Given the description of an element on the screen output the (x, y) to click on. 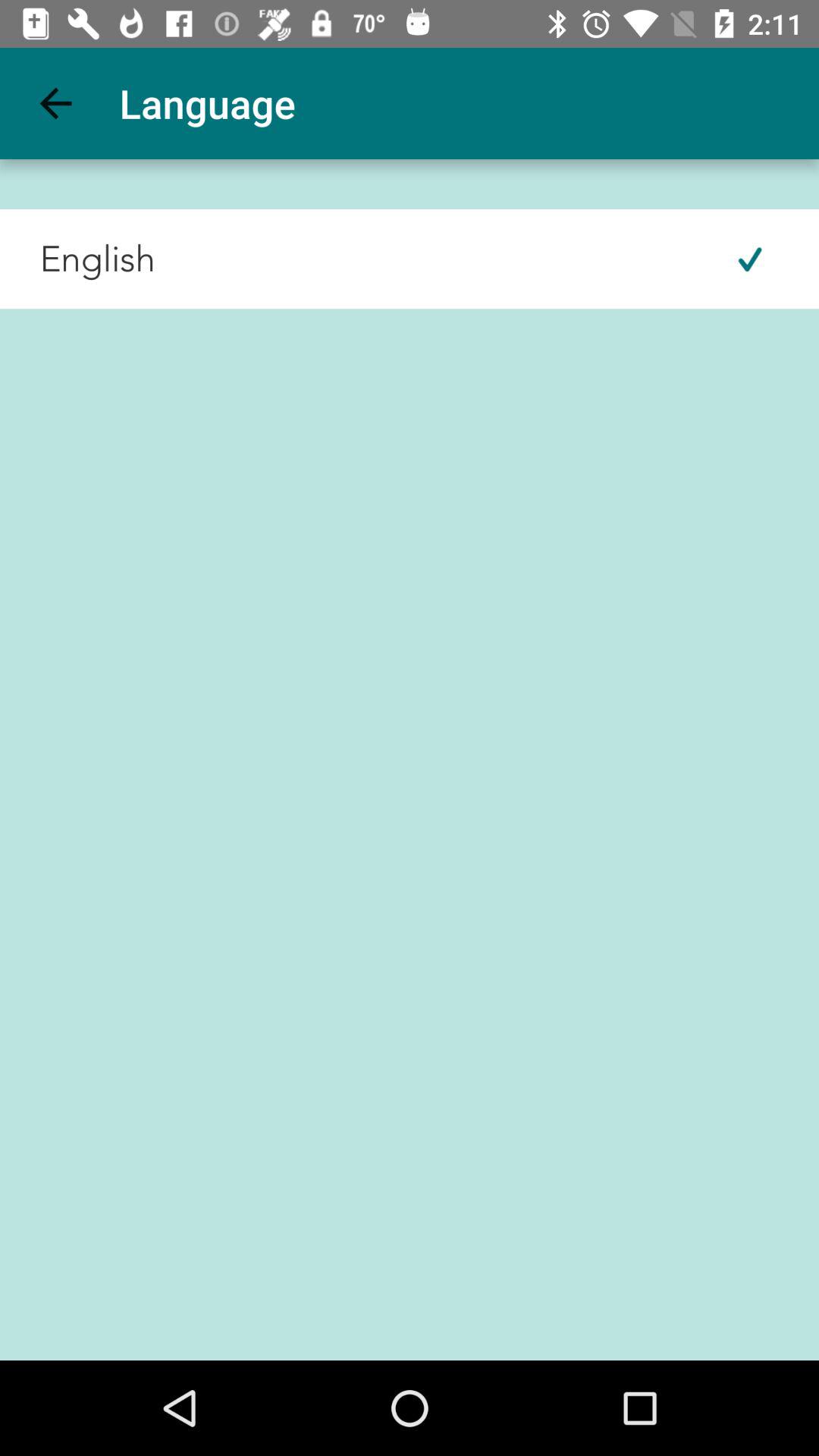
choose icon at the top right corner (749, 258)
